Given the description of an element on the screen output the (x, y) to click on. 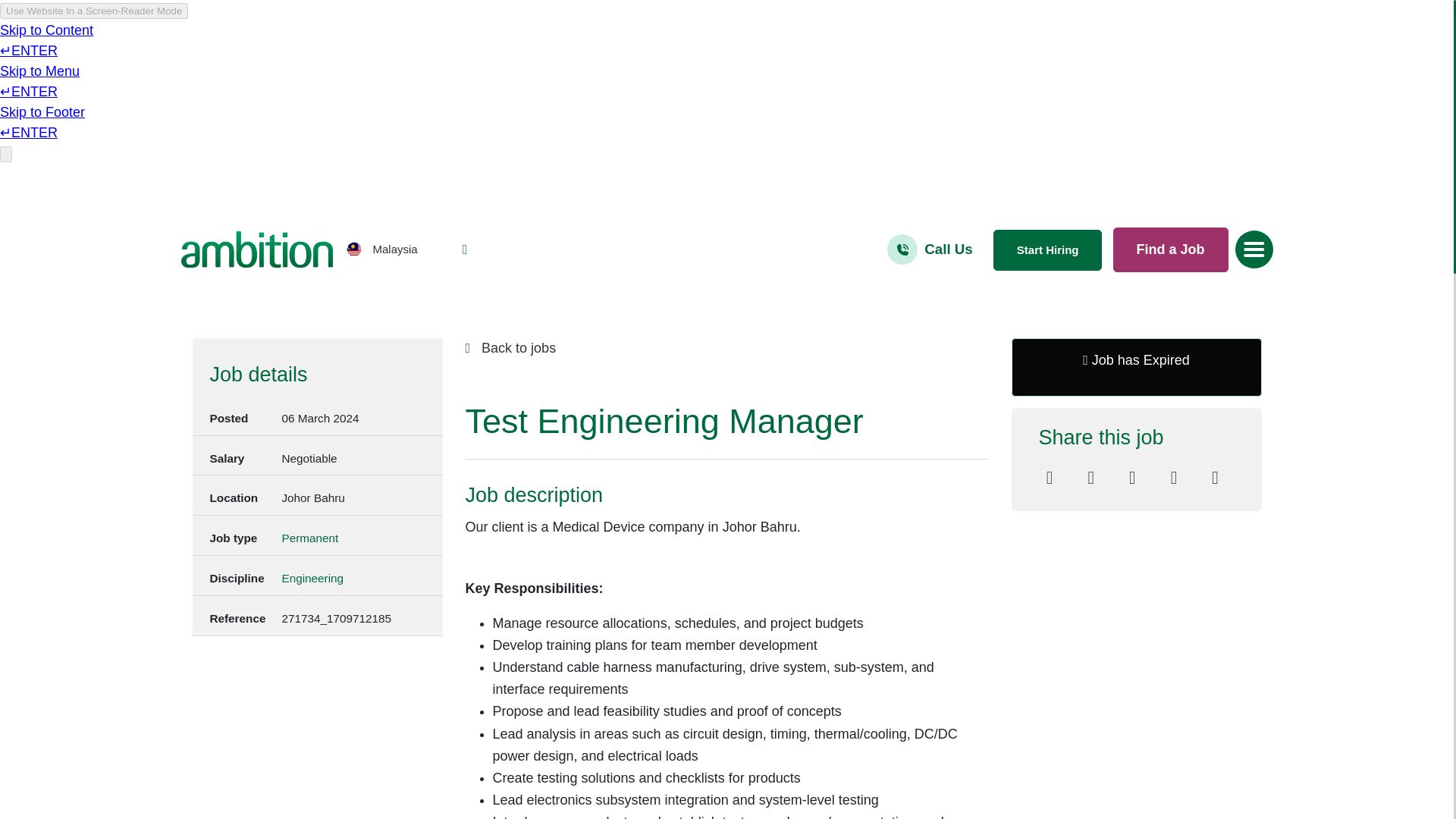
Start Hiring (1047, 250)
Call Us (948, 249)
Permanent (309, 538)
Engineering (312, 579)
Find a Job (1170, 249)
Back to jobs (726, 348)
